Given the description of an element on the screen output the (x, y) to click on. 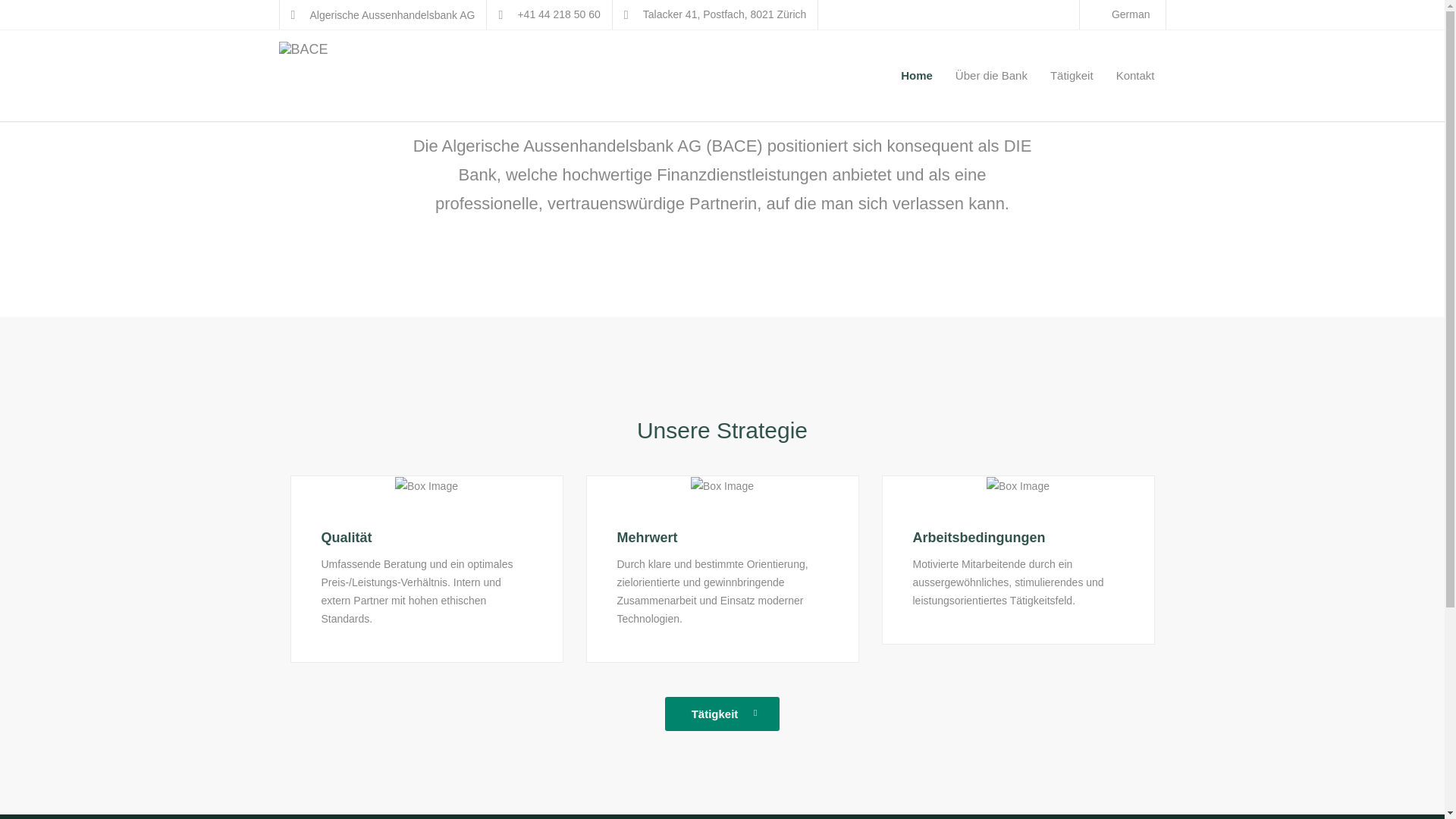
Home Element type: text (916, 75)
+41 44 218 50 60 Element type: text (558, 14)
Kontakt Element type: text (1135, 75)
